Given the description of an element on the screen output the (x, y) to click on. 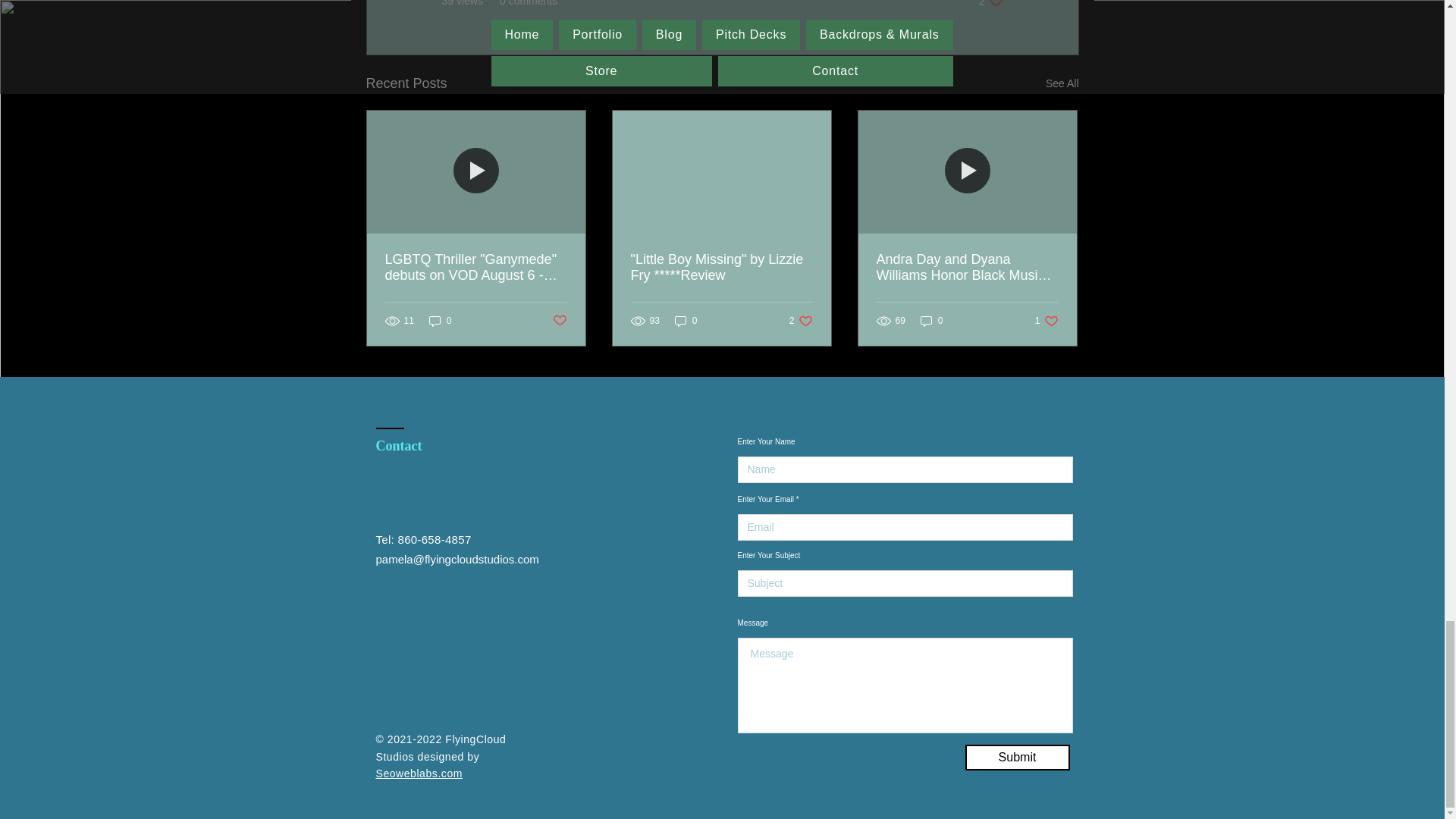
Post not marked as liked (558, 320)
0 (440, 320)
Seoweblabs.com (419, 773)
Submit (800, 320)
0 (1015, 757)
See All (1046, 320)
0 (931, 320)
